Given the description of an element on the screen output the (x, y) to click on. 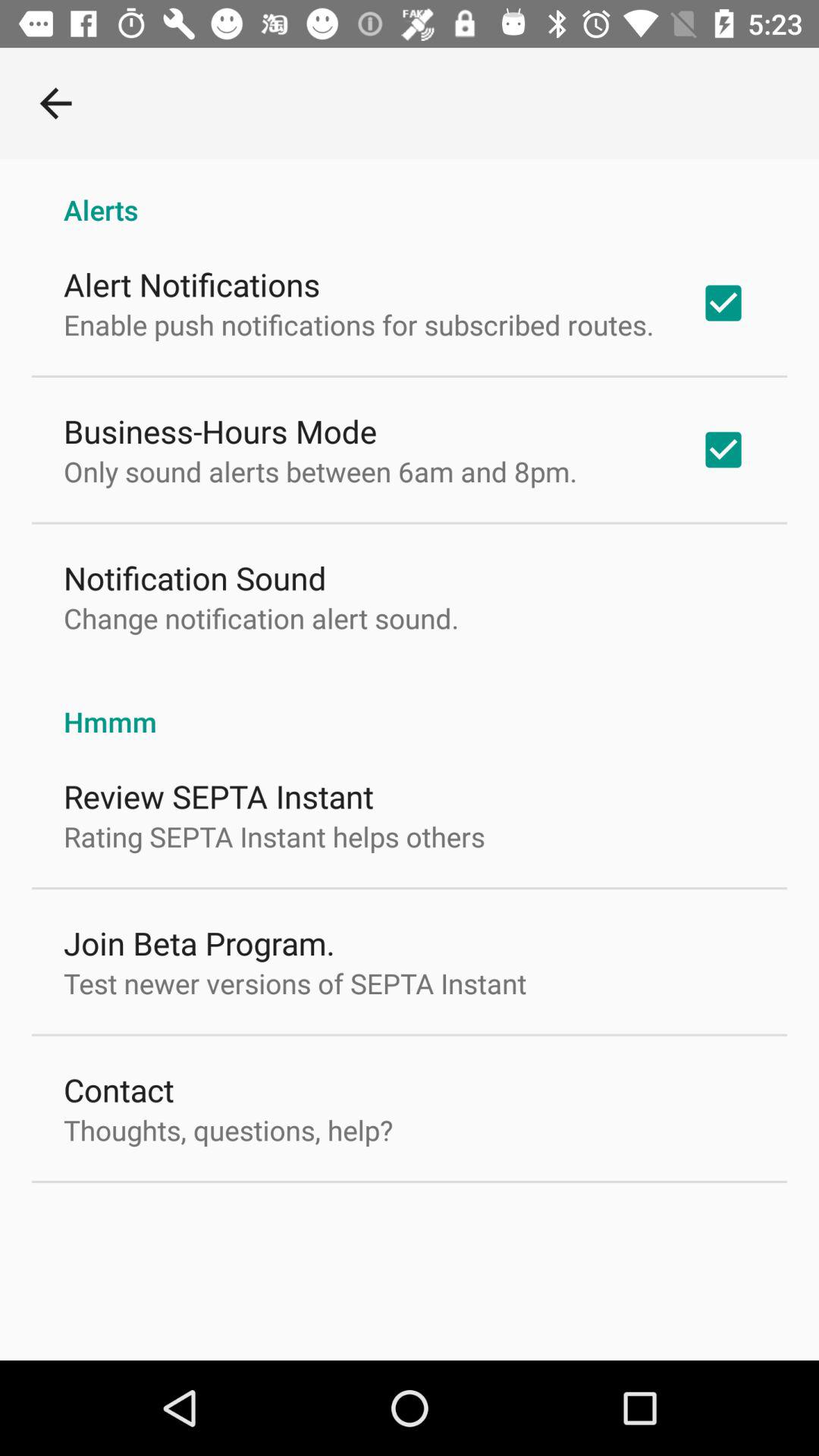
jump to the change notification alert item (260, 618)
